Given the description of an element on the screen output the (x, y) to click on. 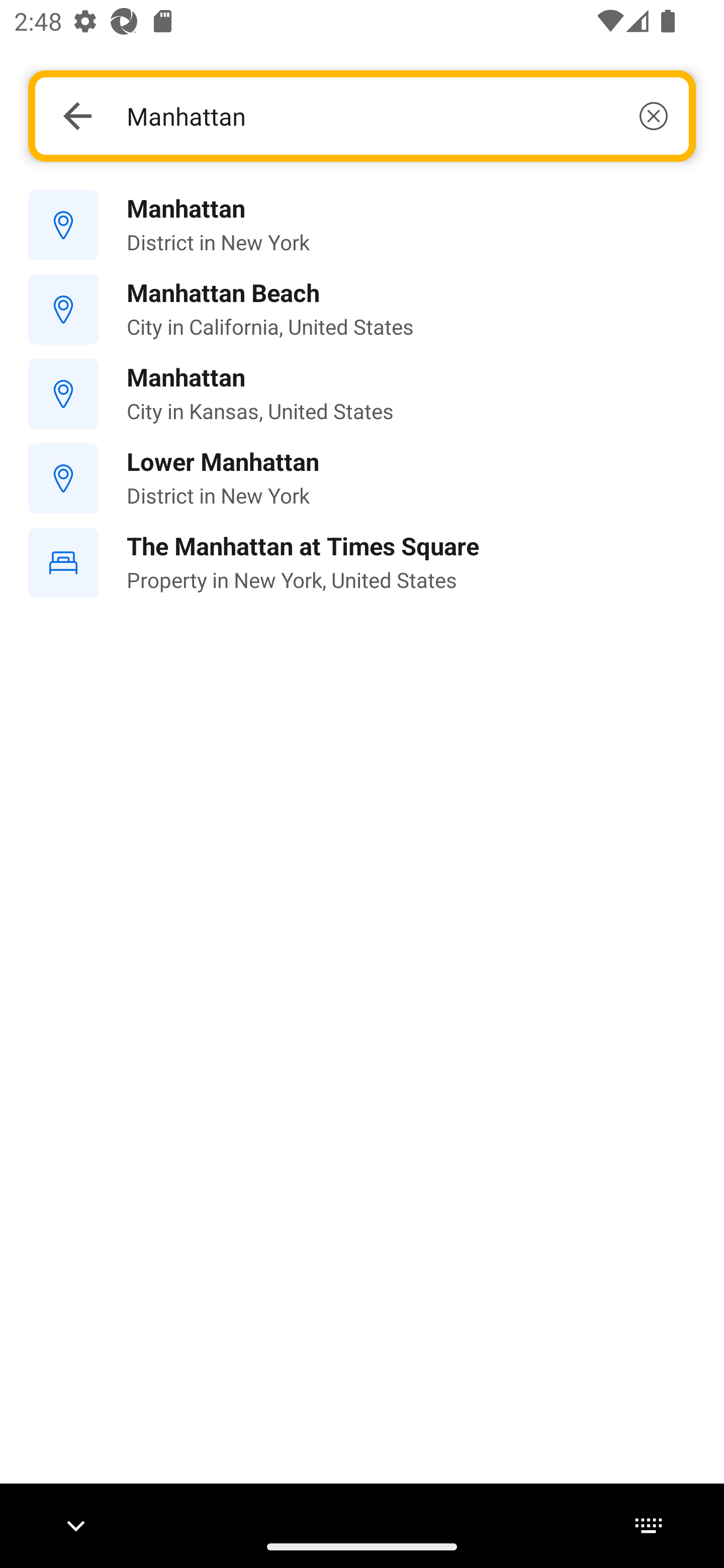
Manhattan (396, 115)
Manhattan District in New York (362, 225)
Manhattan Beach City in California, United States (362, 309)
Manhattan City in Kansas, United States (362, 393)
Lower Manhattan District in New York (362, 477)
